Given the description of an element on the screen output the (x, y) to click on. 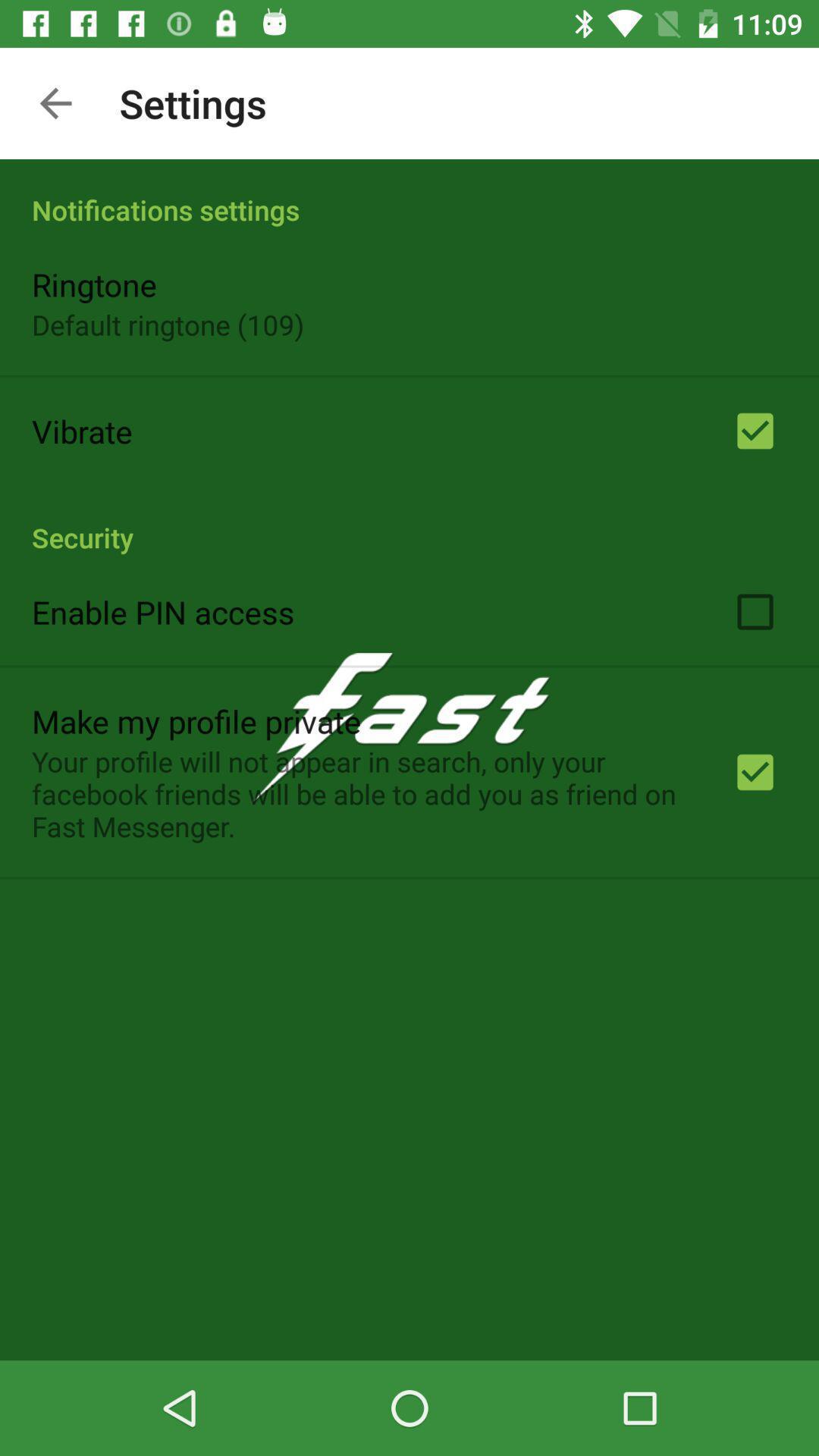
choose the item above the security (81, 430)
